Given the description of an element on the screen output the (x, y) to click on. 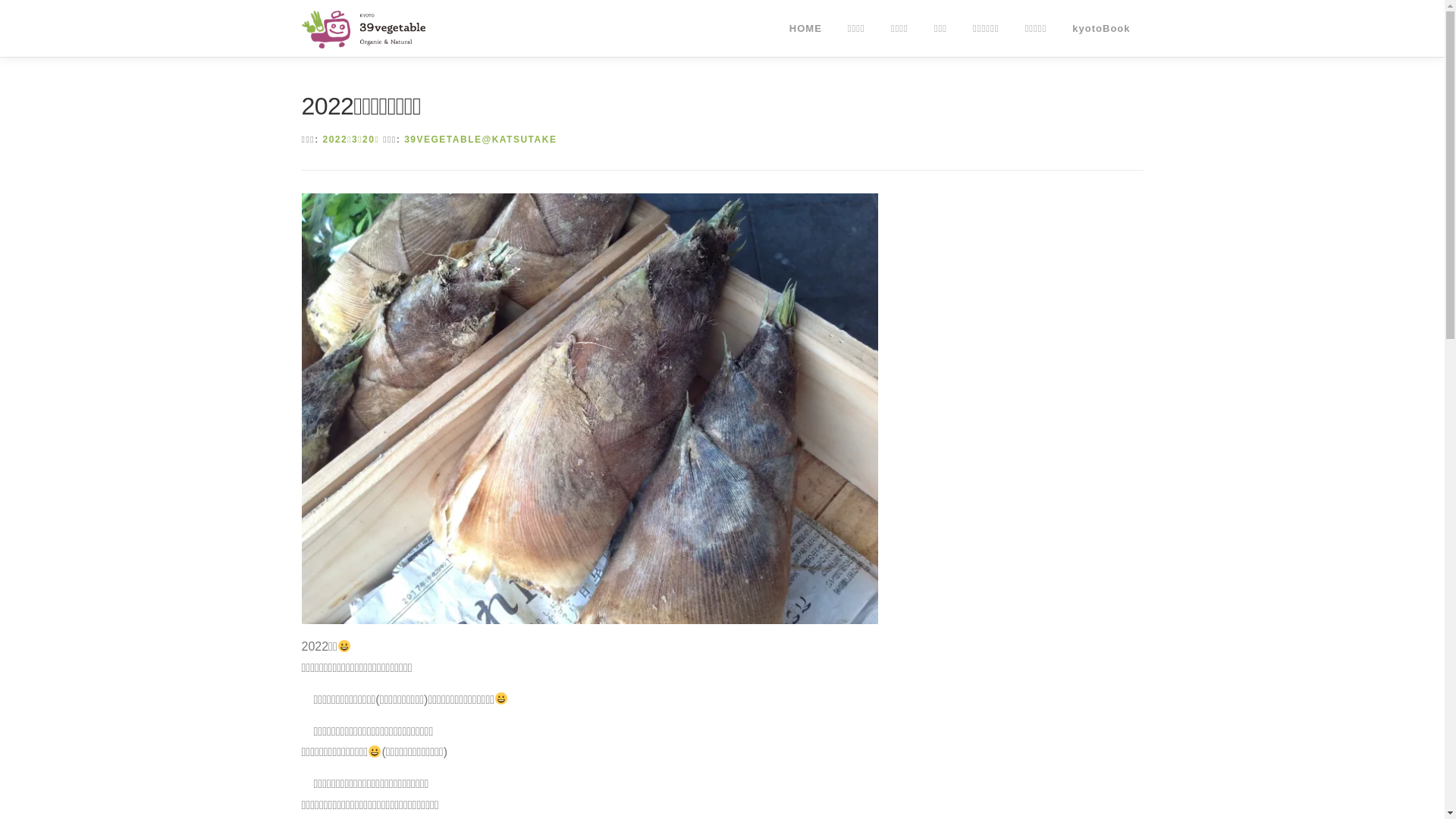
kyotoBook Element type: text (1100, 28)
39VEGETABLE@KATSUTAKE Element type: text (480, 139)
HOME Element type: text (805, 28)
